Given the description of an element on the screen output the (x, y) to click on. 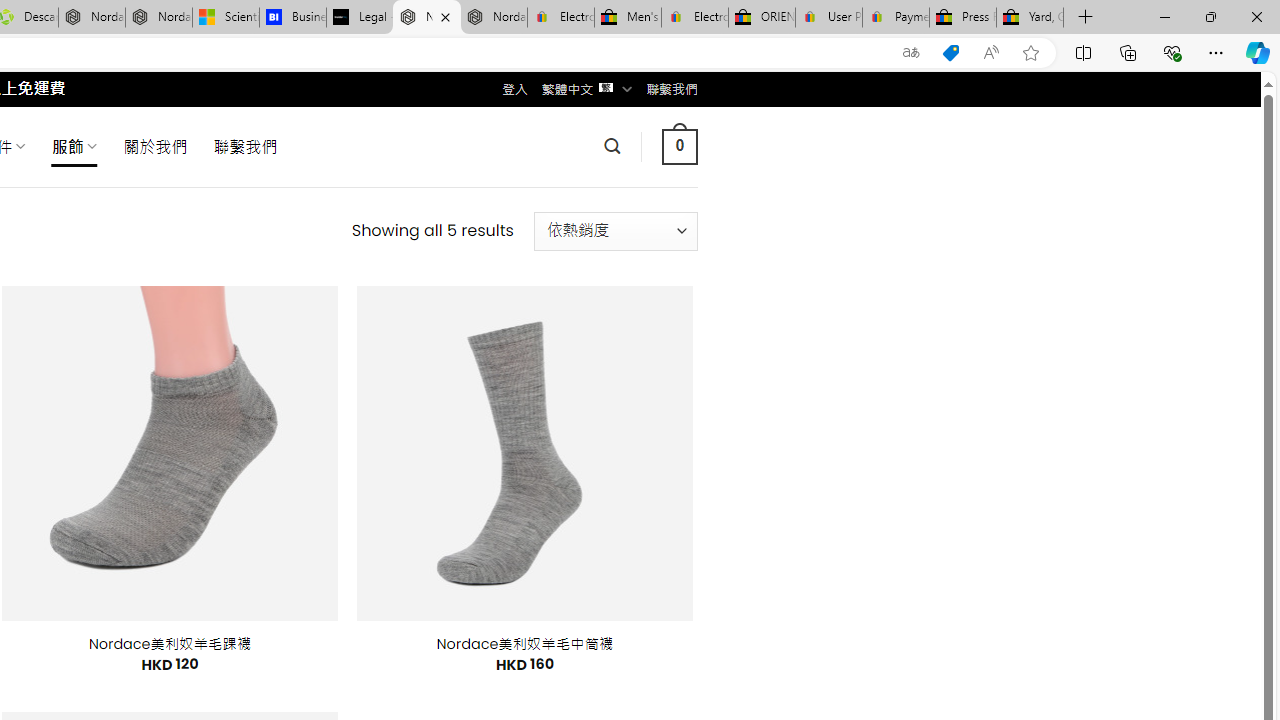
Nordace - Summer Adventures 2024 (91, 17)
